Given the description of an element on the screen output the (x, y) to click on. 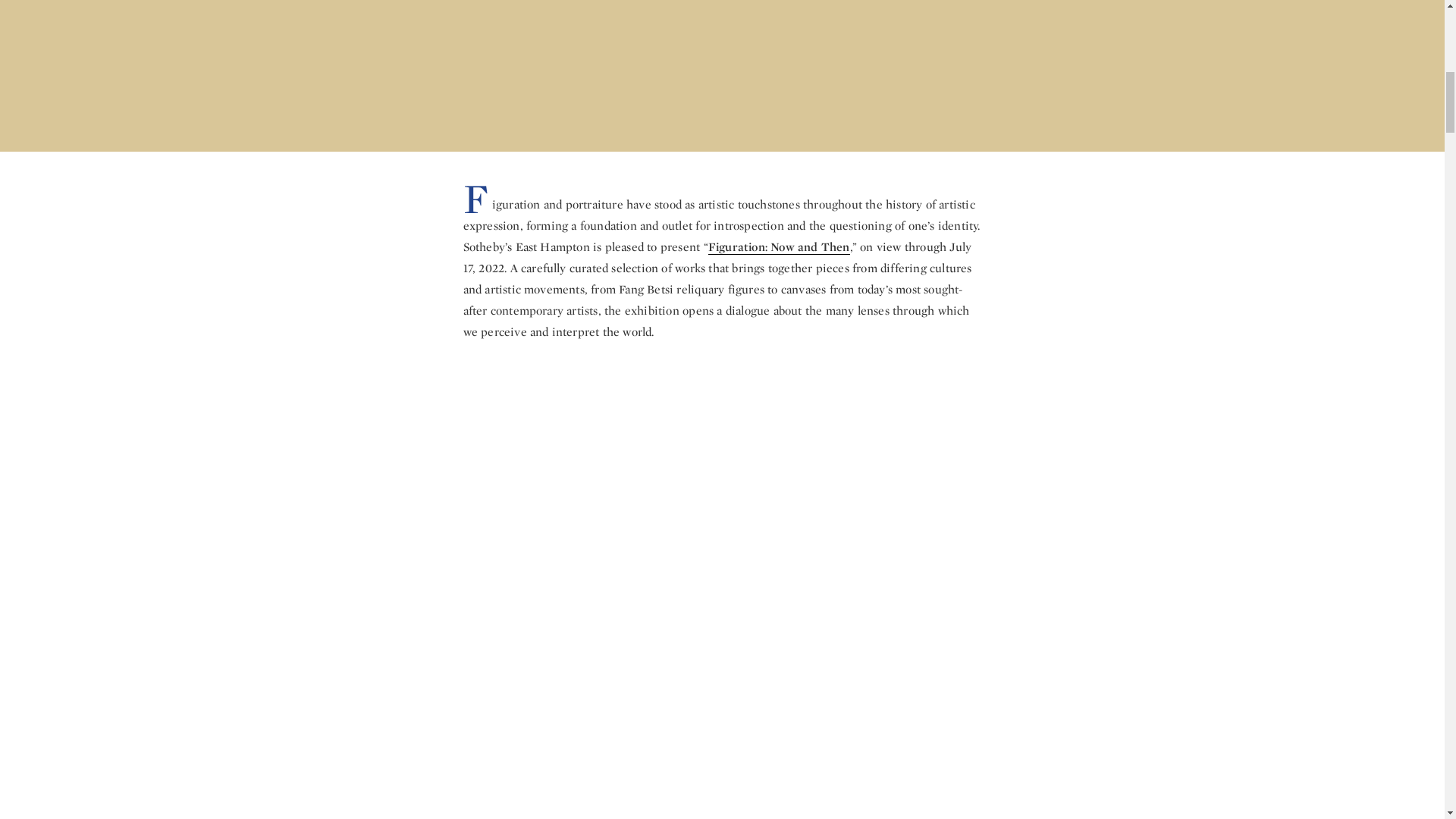
Figuration: Now and Then (778, 246)
